Given the description of an element on the screen output the (x, y) to click on. 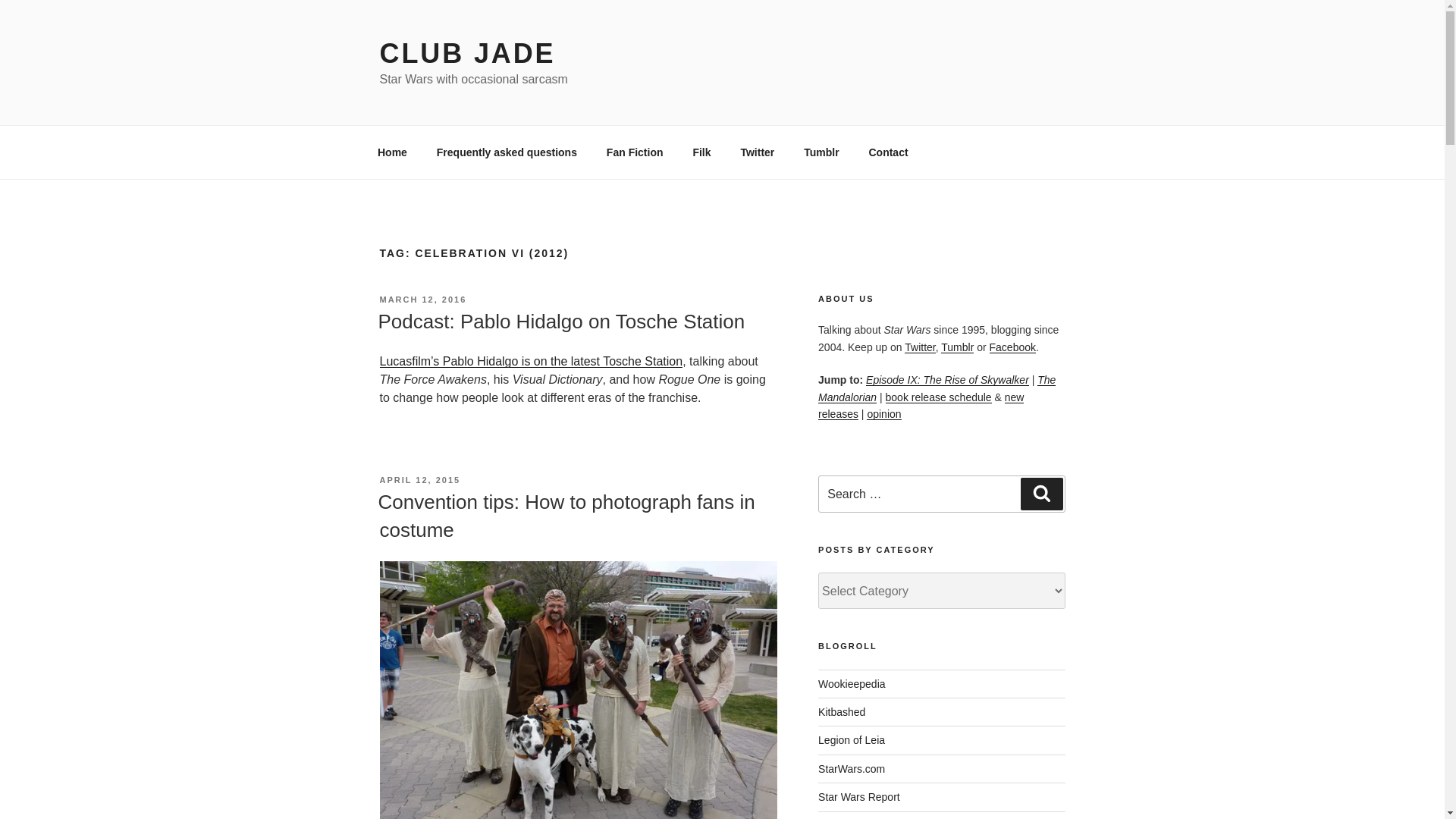
Podcast: Pablo Hidalgo on Tosche Station (560, 321)
APRIL 12, 2015 (419, 479)
The official site. (851, 768)
CLUB JADE (466, 52)
Fan Fiction (634, 151)
Twitter (756, 151)
Tumblr (820, 151)
Convention tips: How to photograph fans in costume (565, 515)
Contact (888, 151)
Filk (701, 151)
MARCH 12, 2016 (421, 298)
Frequently asked questions (506, 151)
Home (392, 151)
